Given the description of an element on the screen output the (x, y) to click on. 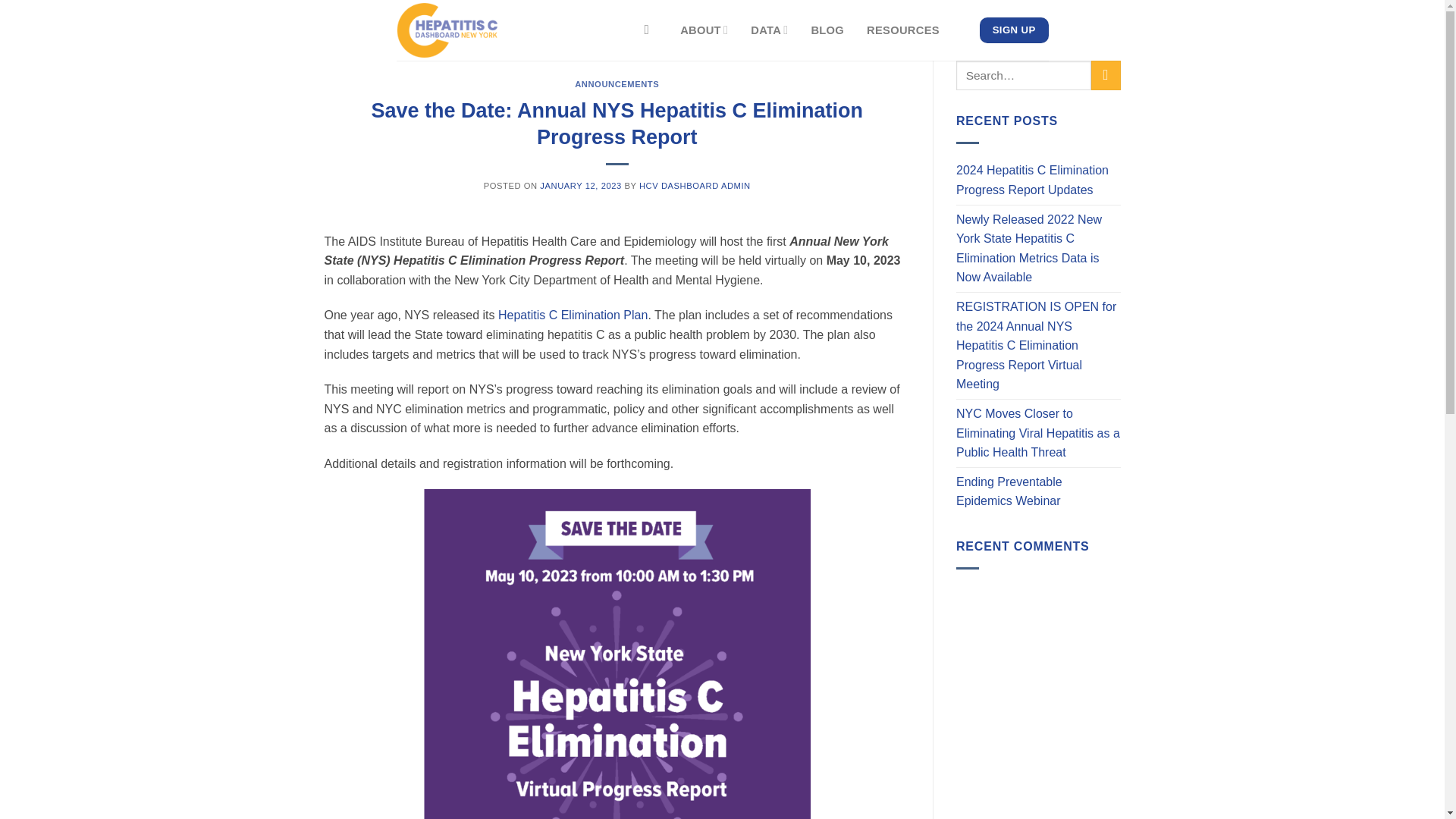
Hepatitis C Elimination Plan (572, 314)
ABOUT (703, 30)
DATA (769, 30)
JANUARY 12, 2023 (580, 185)
ANNOUNCEMENTS (617, 83)
HCV DASHBOARD ADMIN (695, 185)
RESOURCES (902, 30)
Ending Preventable Epidemics Webinar (1038, 491)
BLOG (827, 30)
2024 Hepatitis C Elimination Progress Report Updates (1038, 179)
Hepatitis C Dashboard - New York State (508, 30)
SIGN UP (1013, 30)
